Given the description of an element on the screen output the (x, y) to click on. 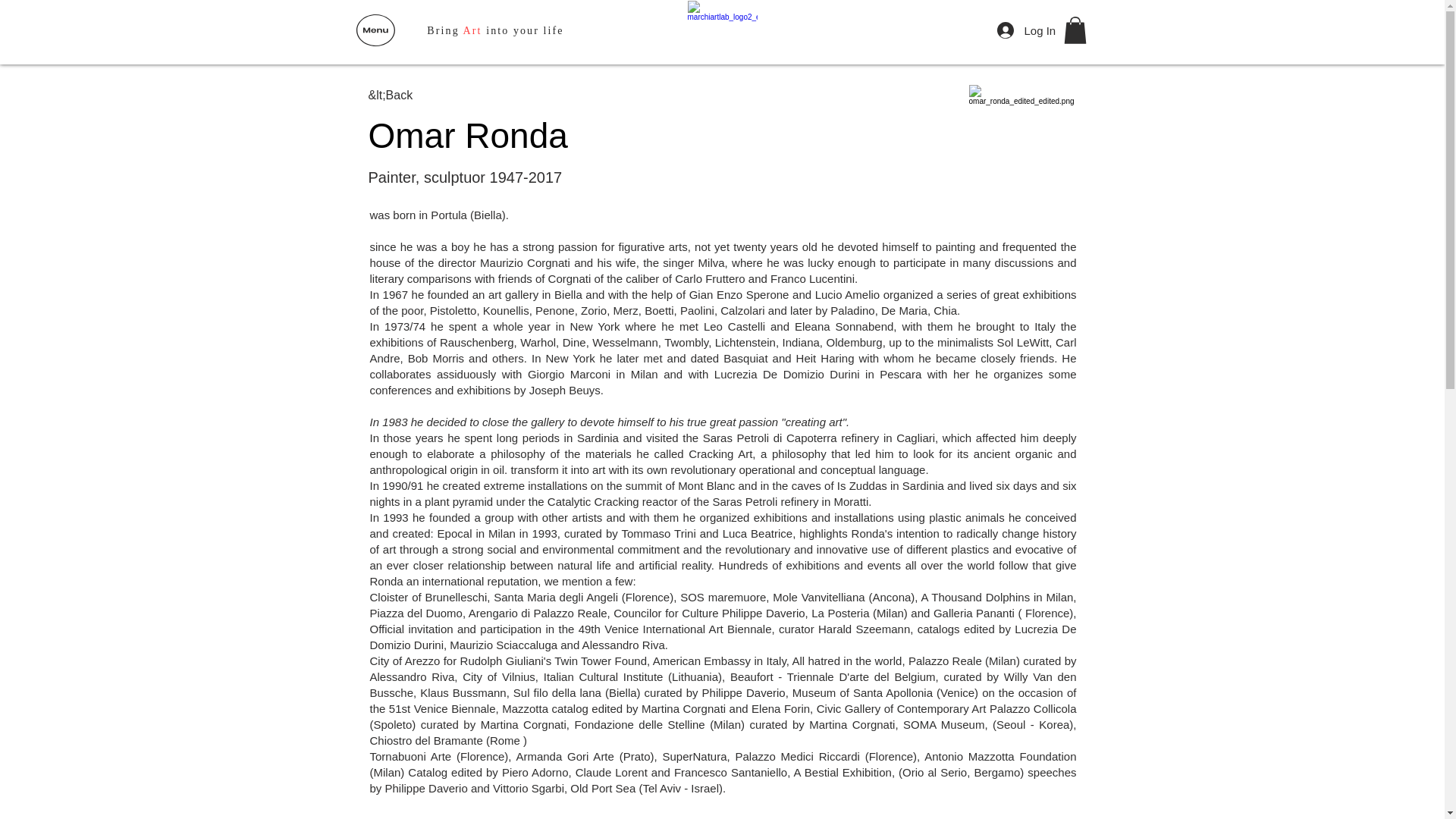
Log In (1015, 30)
